Given the description of an element on the screen output the (x, y) to click on. 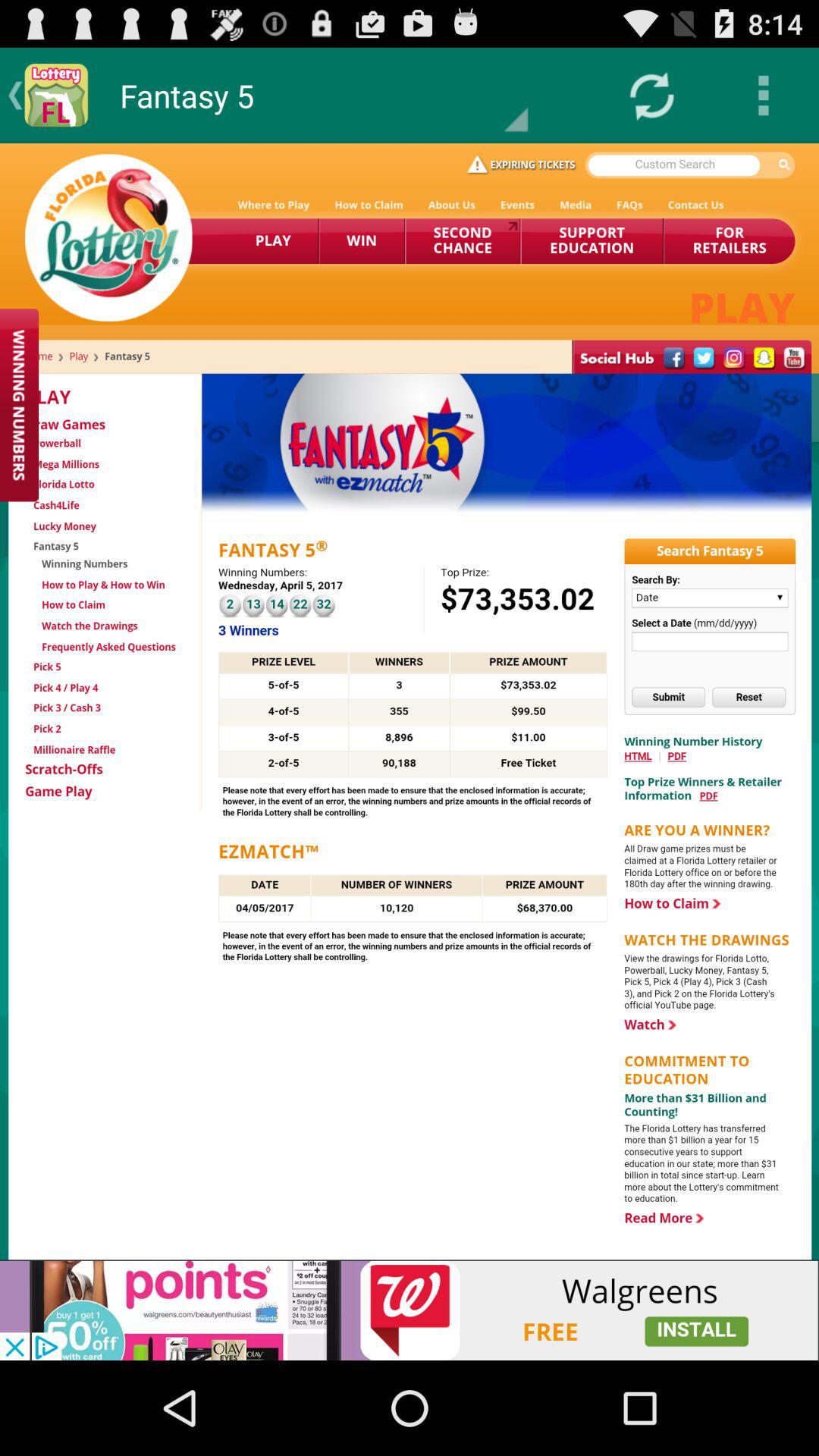
advertisement (409, 1310)
